Given the description of an element on the screen output the (x, y) to click on. 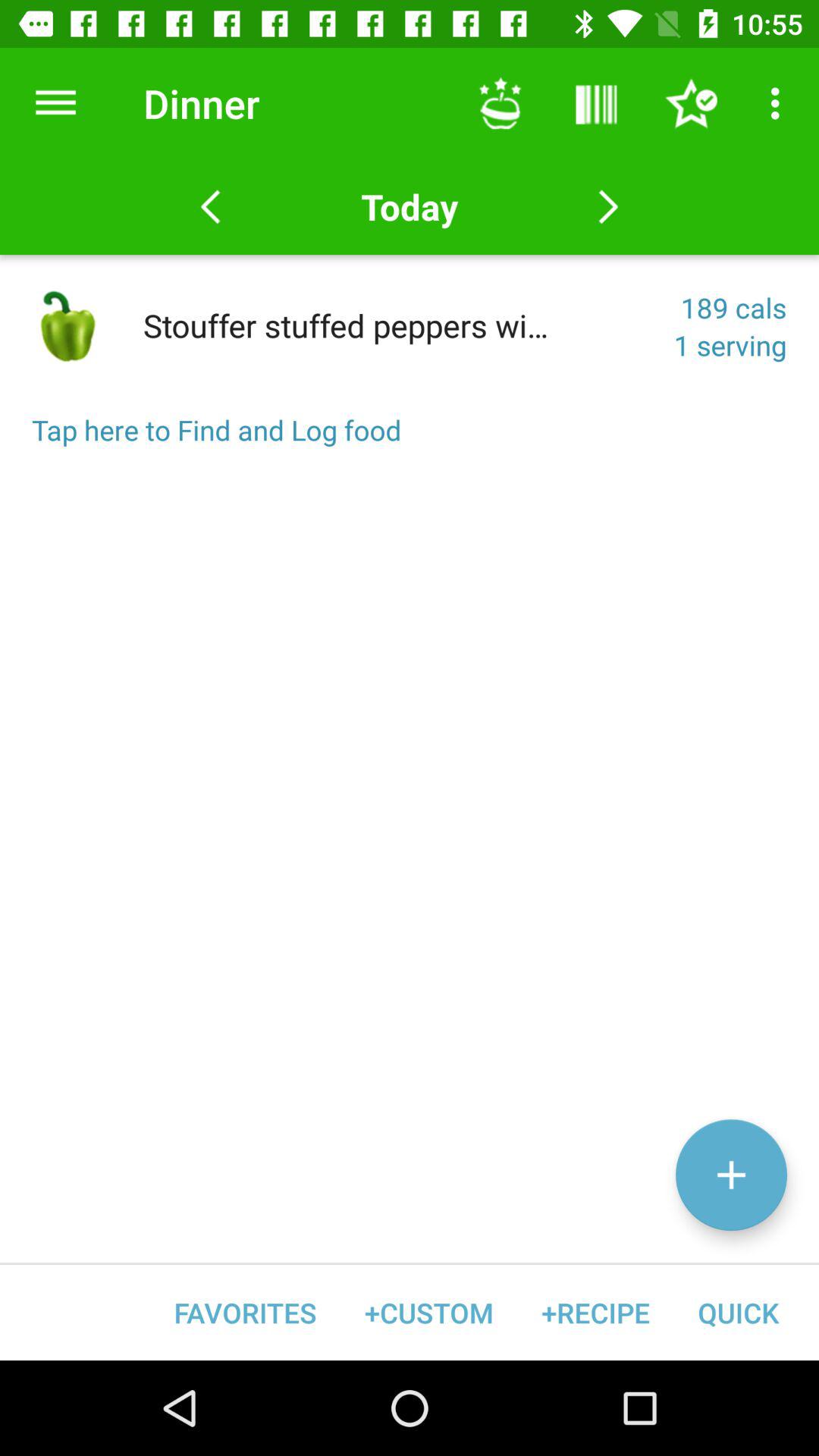
press item next to dinner (55, 103)
